Given the description of an element on the screen output the (x, y) to click on. 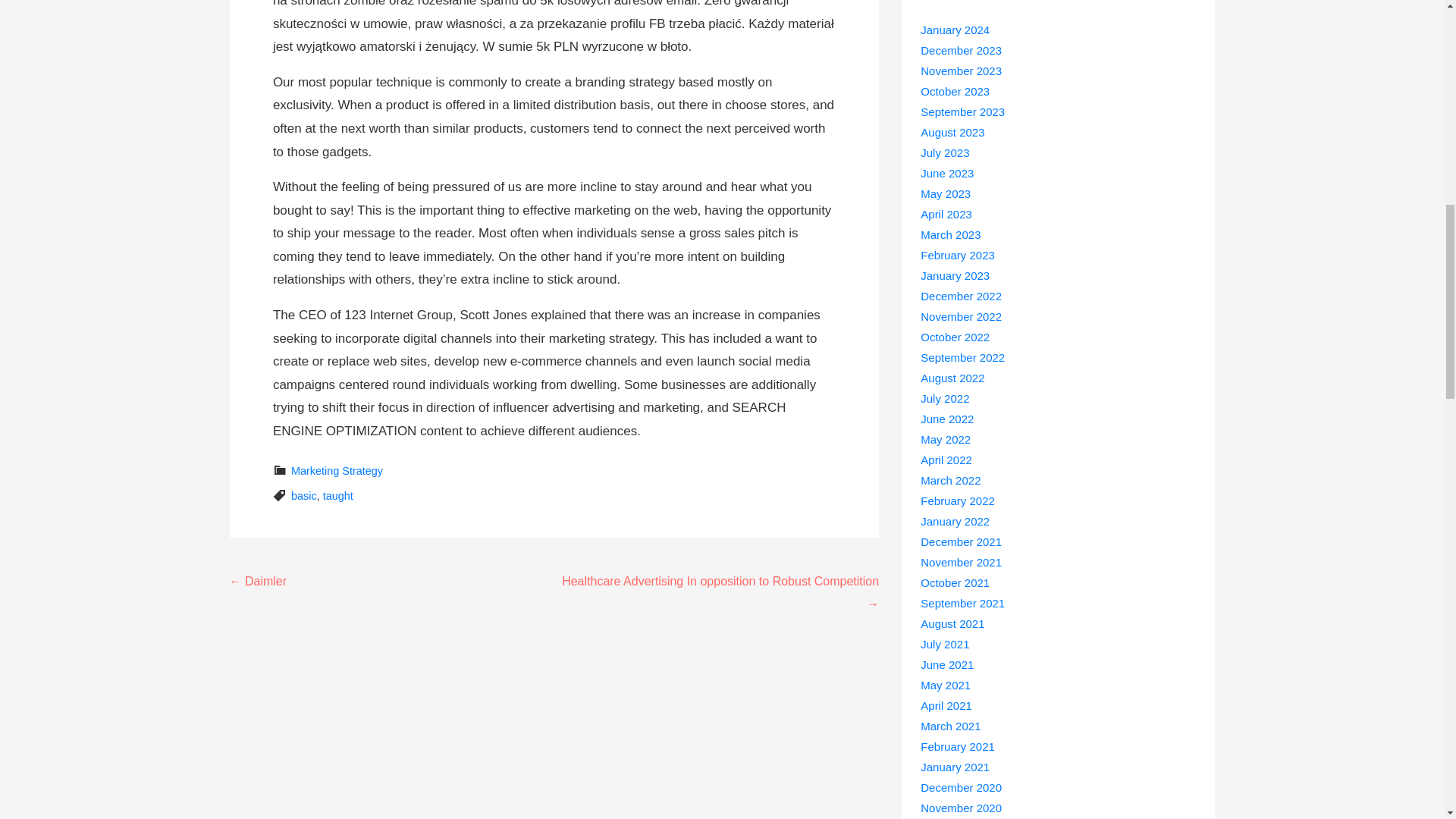
September 2023 (962, 111)
August 2023 (952, 132)
basic (304, 495)
Marketing Strategy (336, 470)
June 2023 (947, 173)
November 2022 (960, 316)
April 2023 (946, 214)
September 2022 (962, 357)
July 2023 (944, 152)
March 2023 (949, 234)
